Given the description of an element on the screen output the (x, y) to click on. 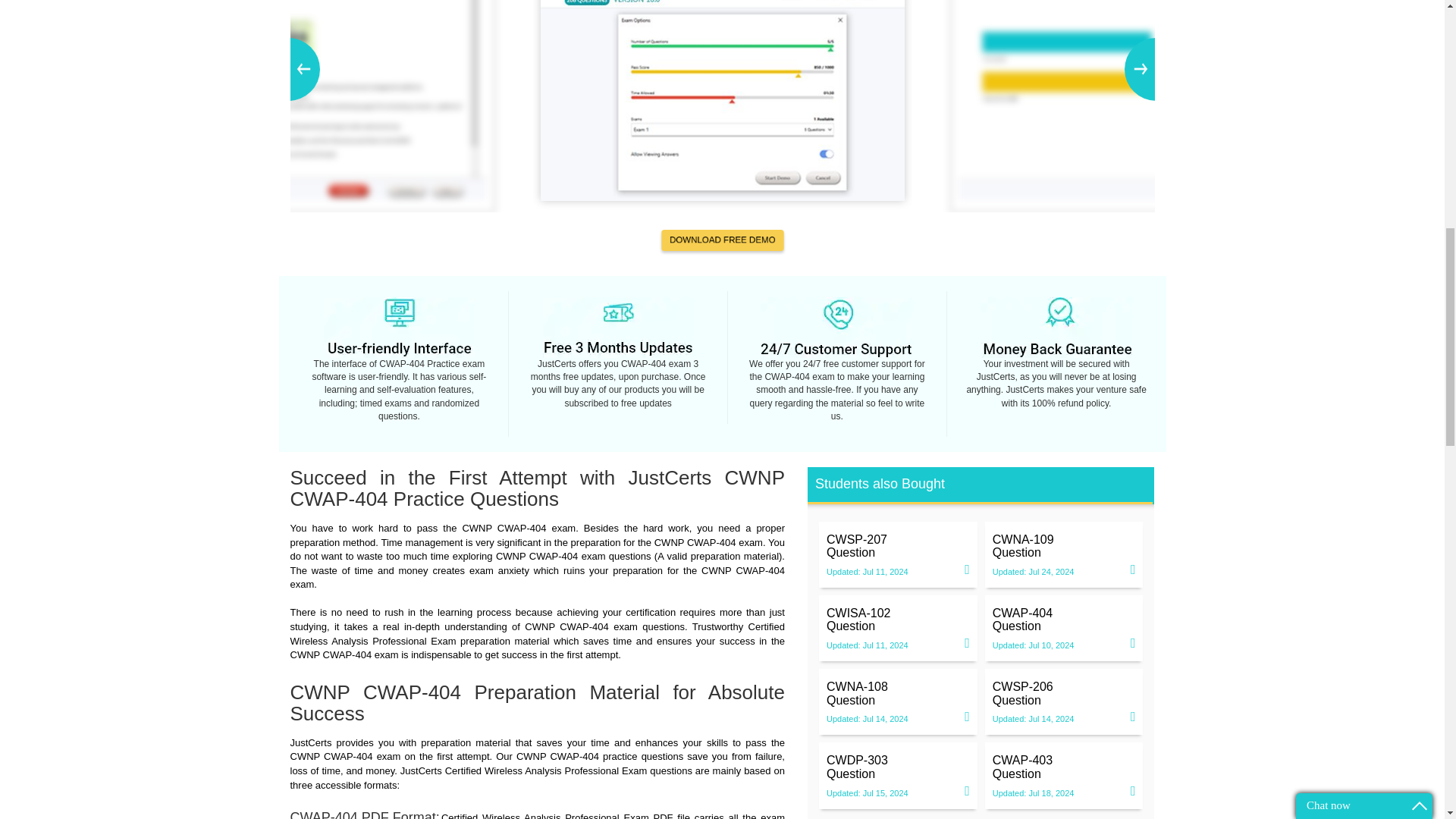
Students also Bought (898, 619)
DOWNLOAD FREE DEMO (1063, 766)
